Given the description of an element on the screen output the (x, y) to click on. 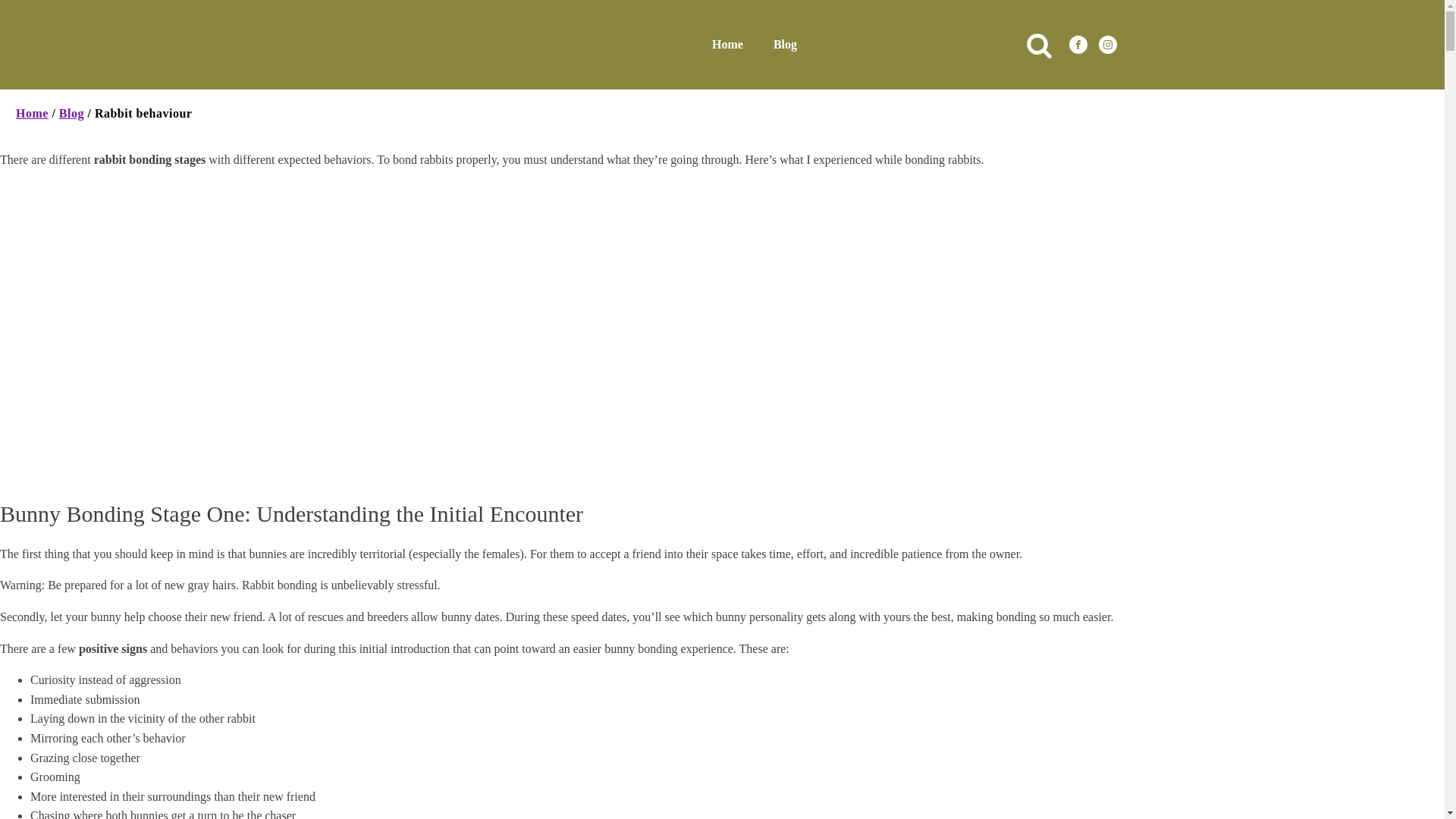
Home (32, 113)
Blog (785, 44)
Home (727, 44)
Blog (71, 113)
